Given the description of an element on the screen output the (x, y) to click on. 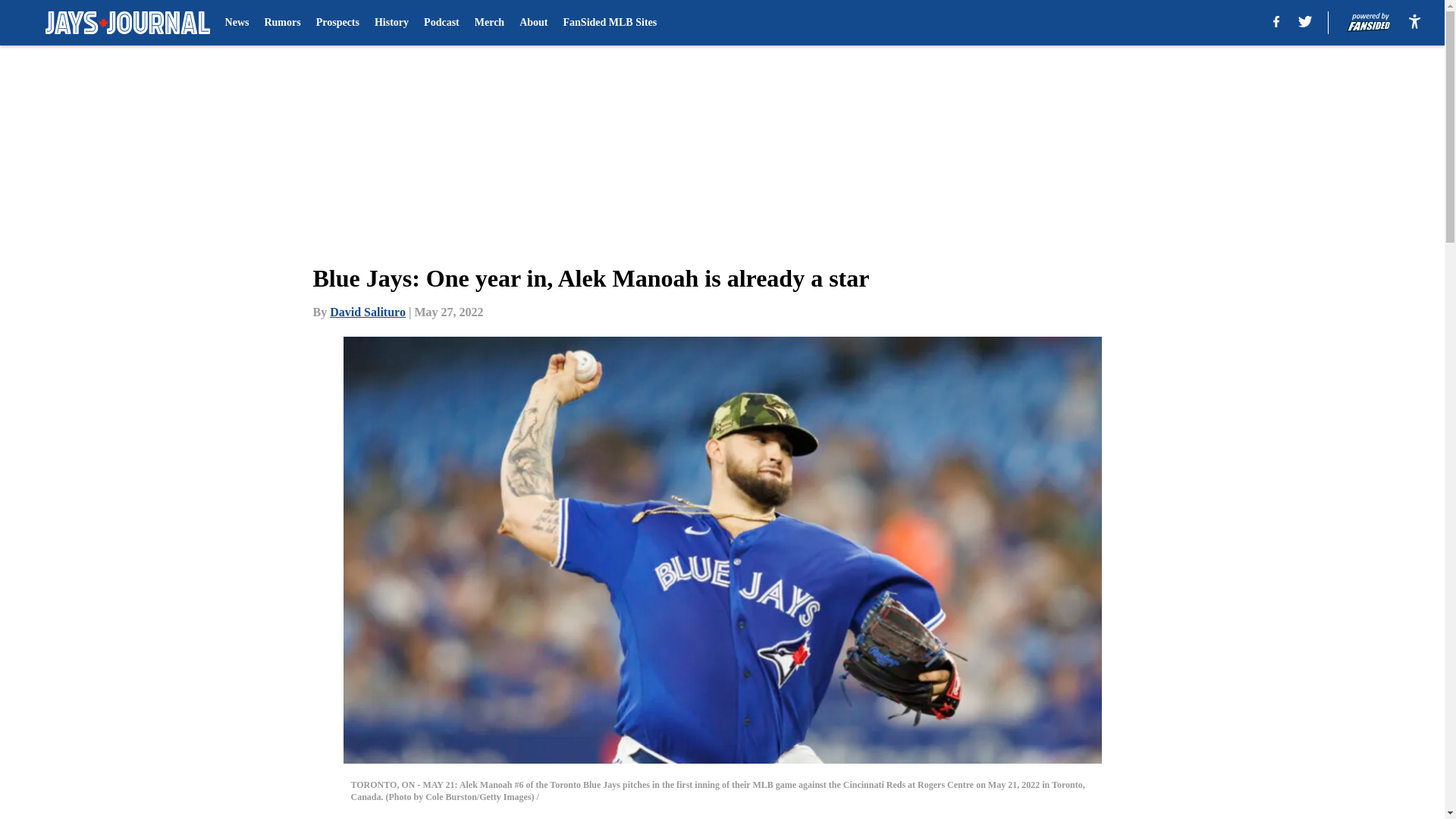
History (391, 22)
About (533, 22)
Podcast (441, 22)
Rumors (281, 22)
Prospects (337, 22)
News (236, 22)
Merch (488, 22)
FanSided MLB Sites (610, 22)
David Salituro (368, 311)
